Given the description of an element on the screen output the (x, y) to click on. 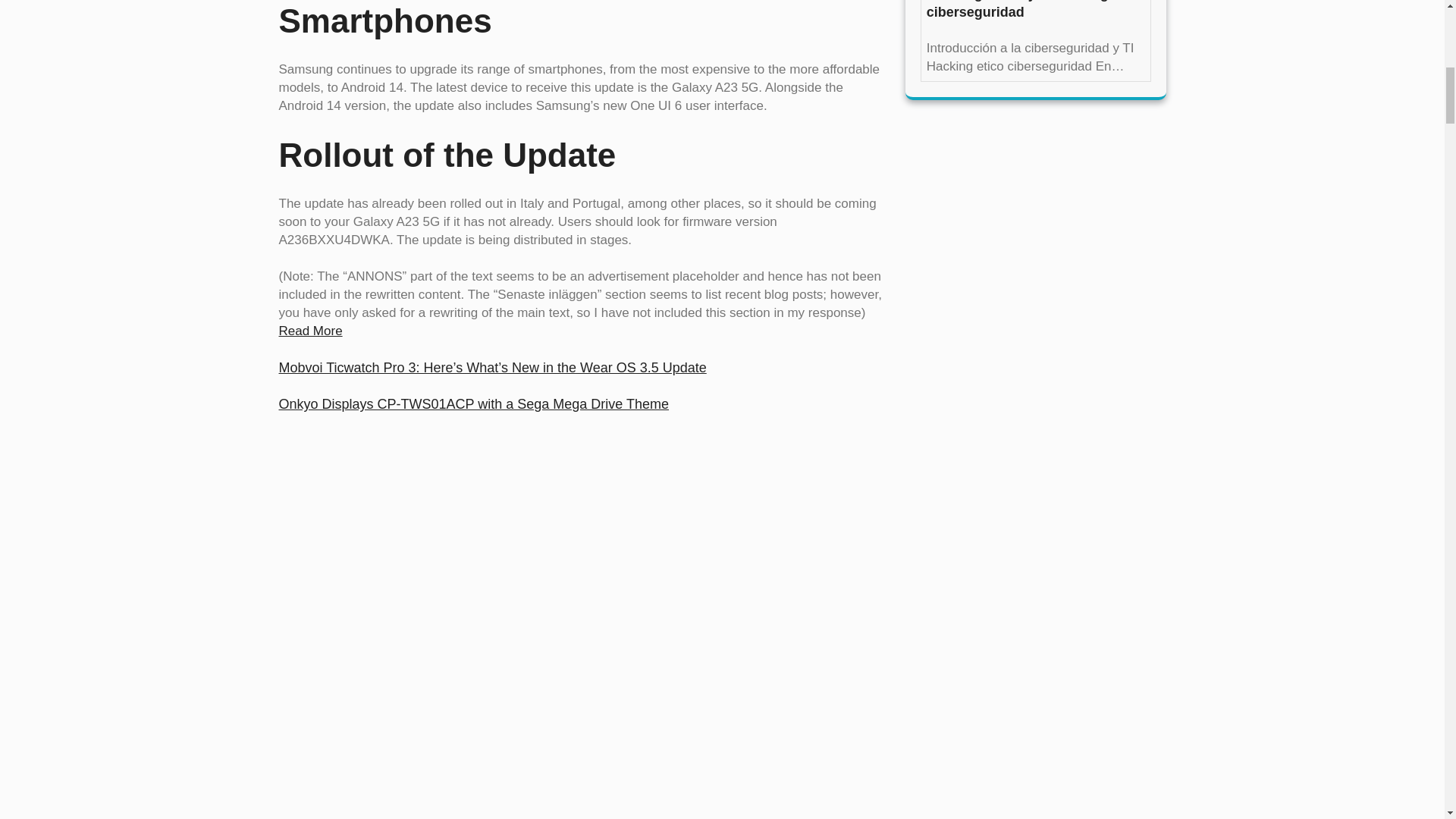
ciberseguridad y TI Hacking etico ciberseguridad (1035, 10)
Onkyo Displays CP-TWS01ACP with a Sega Mega Drive Theme (474, 403)
Read More (310, 330)
